Given the description of an element on the screen output the (x, y) to click on. 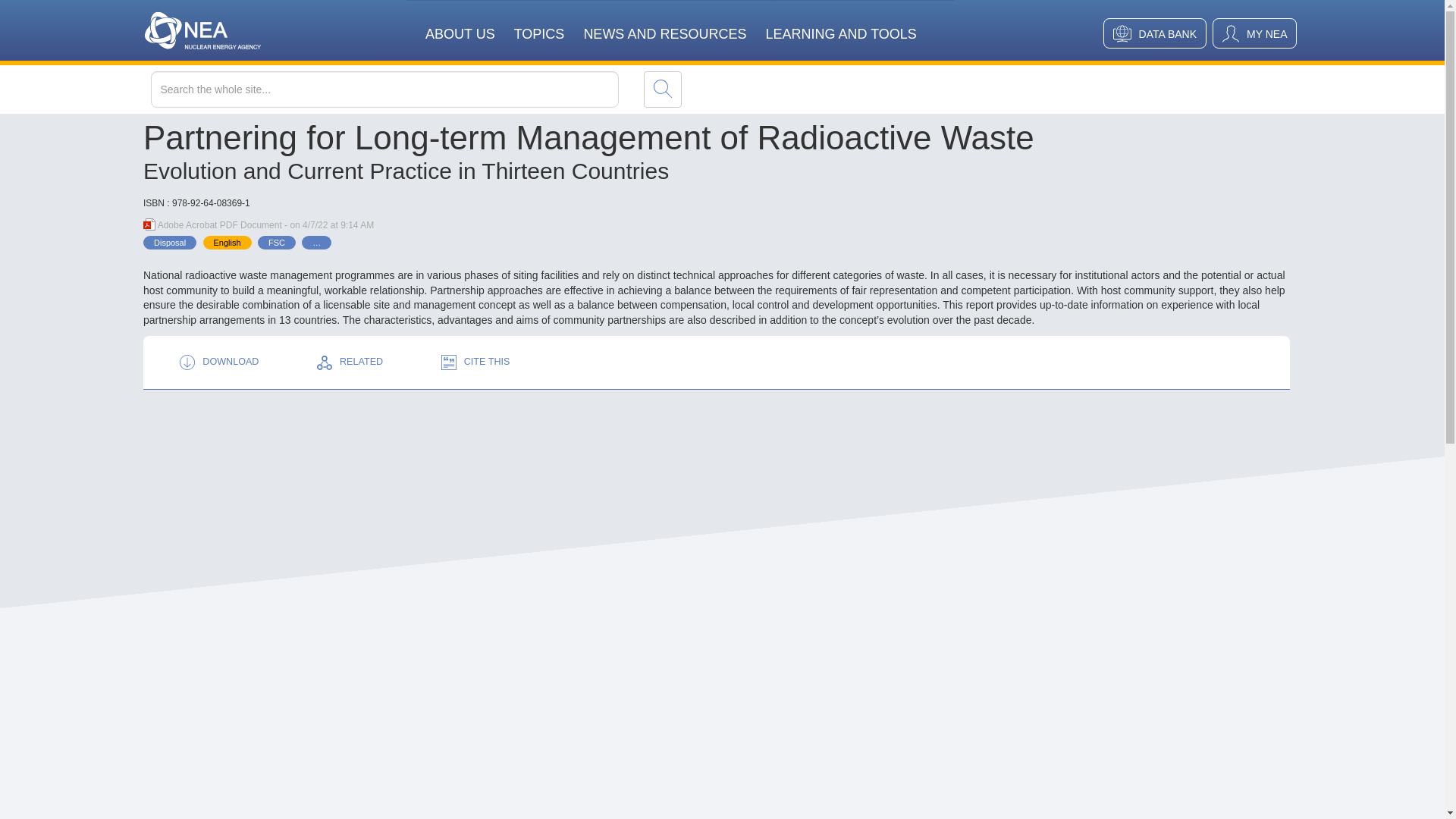
ABOUT US (460, 23)
Search the whole site... (415, 89)
Disposal (169, 242)
true (662, 89)
Adobe Acrobat PDF Document (148, 224)
DATA BANK (1155, 33)
LEARNING AND TOOLS (840, 23)
FSC (276, 242)
NEWS AND RESOURCES (664, 23)
TOPICS (538, 23)
